Given the description of an element on the screen output the (x, y) to click on. 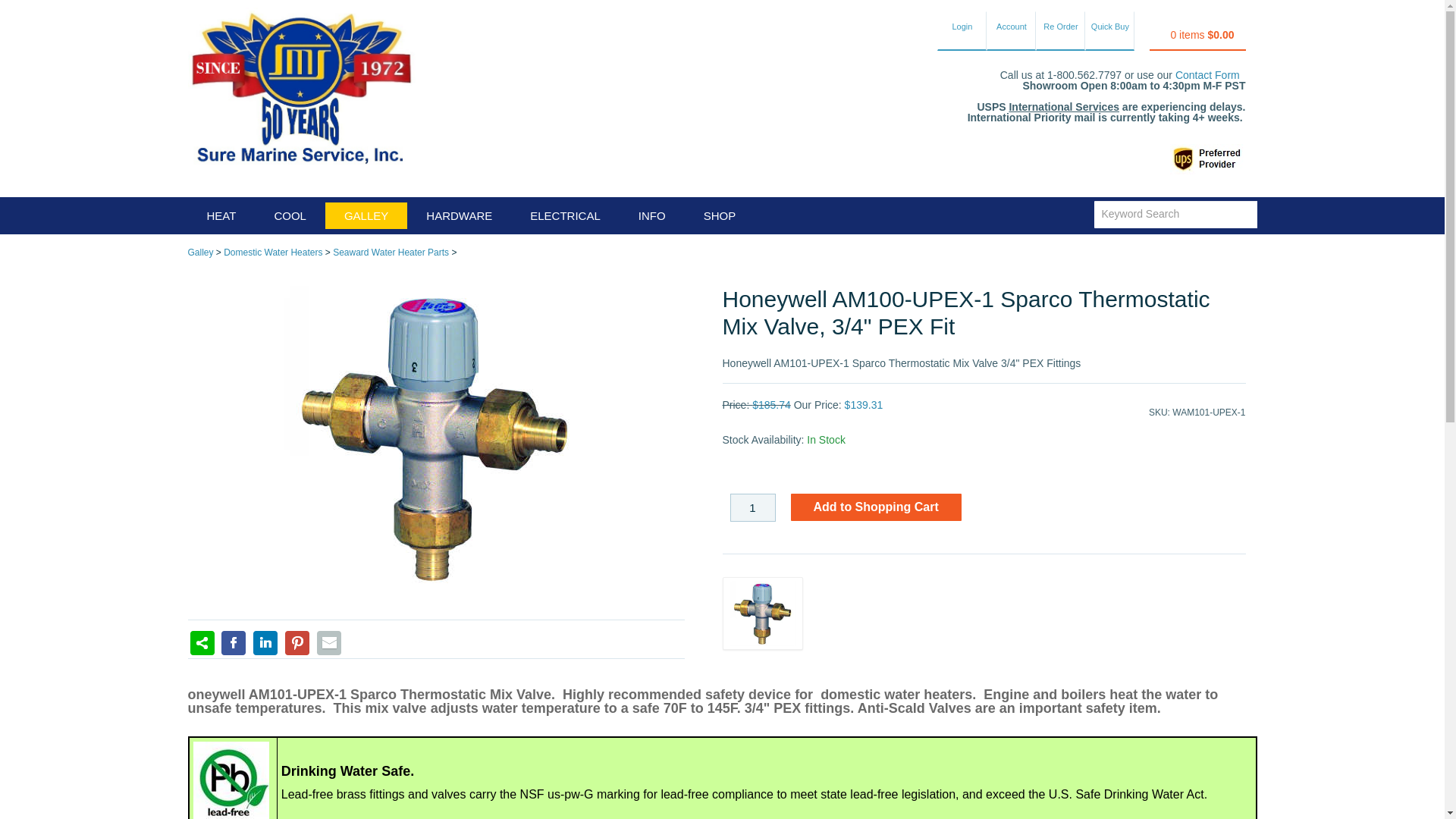
GALLEY (365, 215)
Re Order (1059, 30)
Quick Buy (1109, 30)
Add to Shopping Cart (875, 506)
Galley (200, 252)
COOL (289, 215)
HARDWARE (459, 215)
ELECTRICAL (565, 215)
HEAT (221, 215)
Login (962, 30)
Domestic Water Heaters (272, 252)
Login (962, 30)
SHOP (719, 215)
Account (1011, 30)
INFO (652, 215)
